Given the description of an element on the screen output the (x, y) to click on. 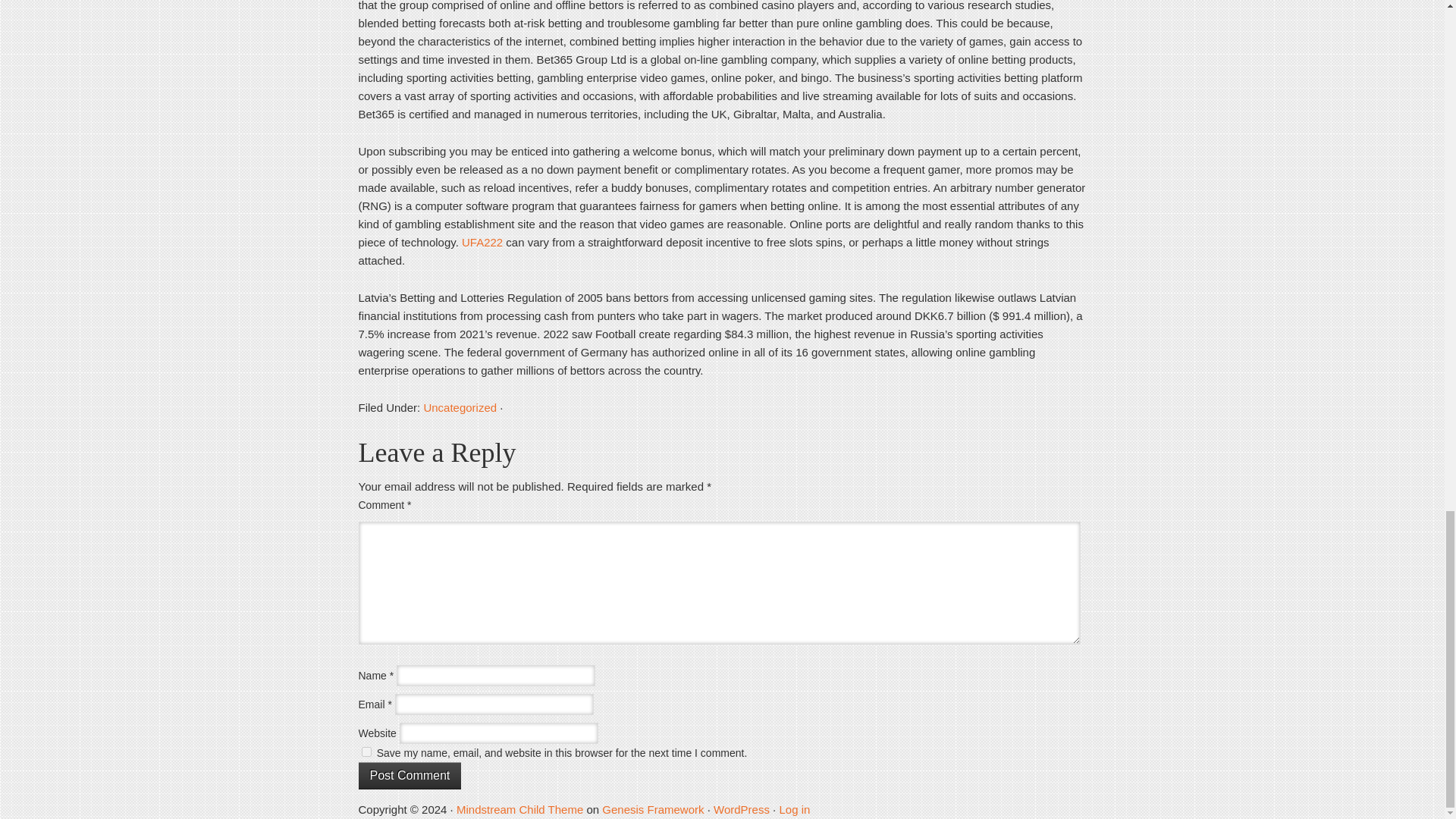
WordPress (741, 809)
Post Comment (409, 775)
Genesis Framework (652, 809)
Mindstream Child Theme (520, 809)
yes (366, 751)
Uncategorized (459, 407)
Log in (793, 809)
UFA222 (481, 241)
Post Comment (409, 775)
